Given the description of an element on the screen output the (x, y) to click on. 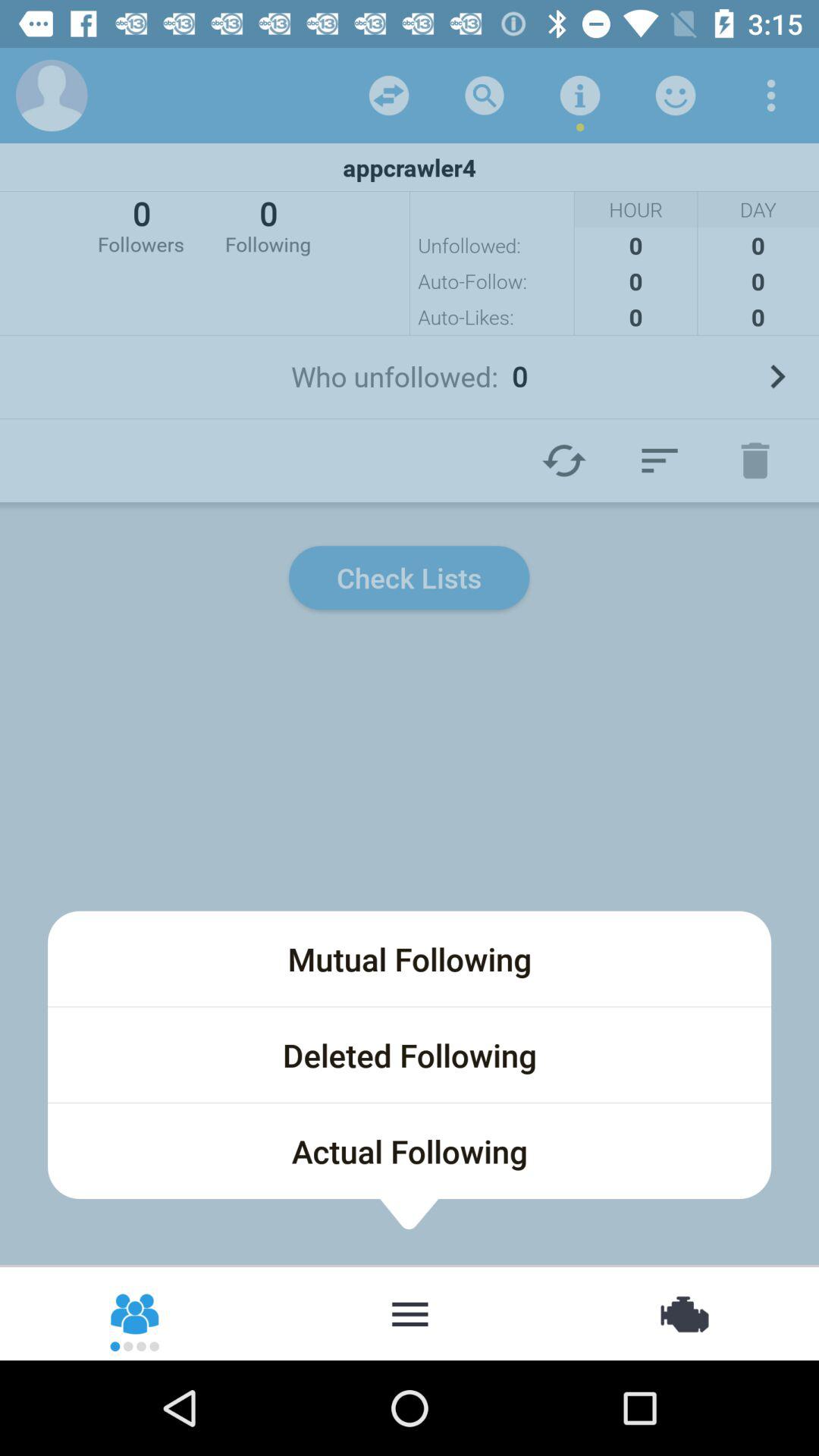
choose icon to the right of 0
followers (268, 224)
